Given the description of an element on the screen output the (x, y) to click on. 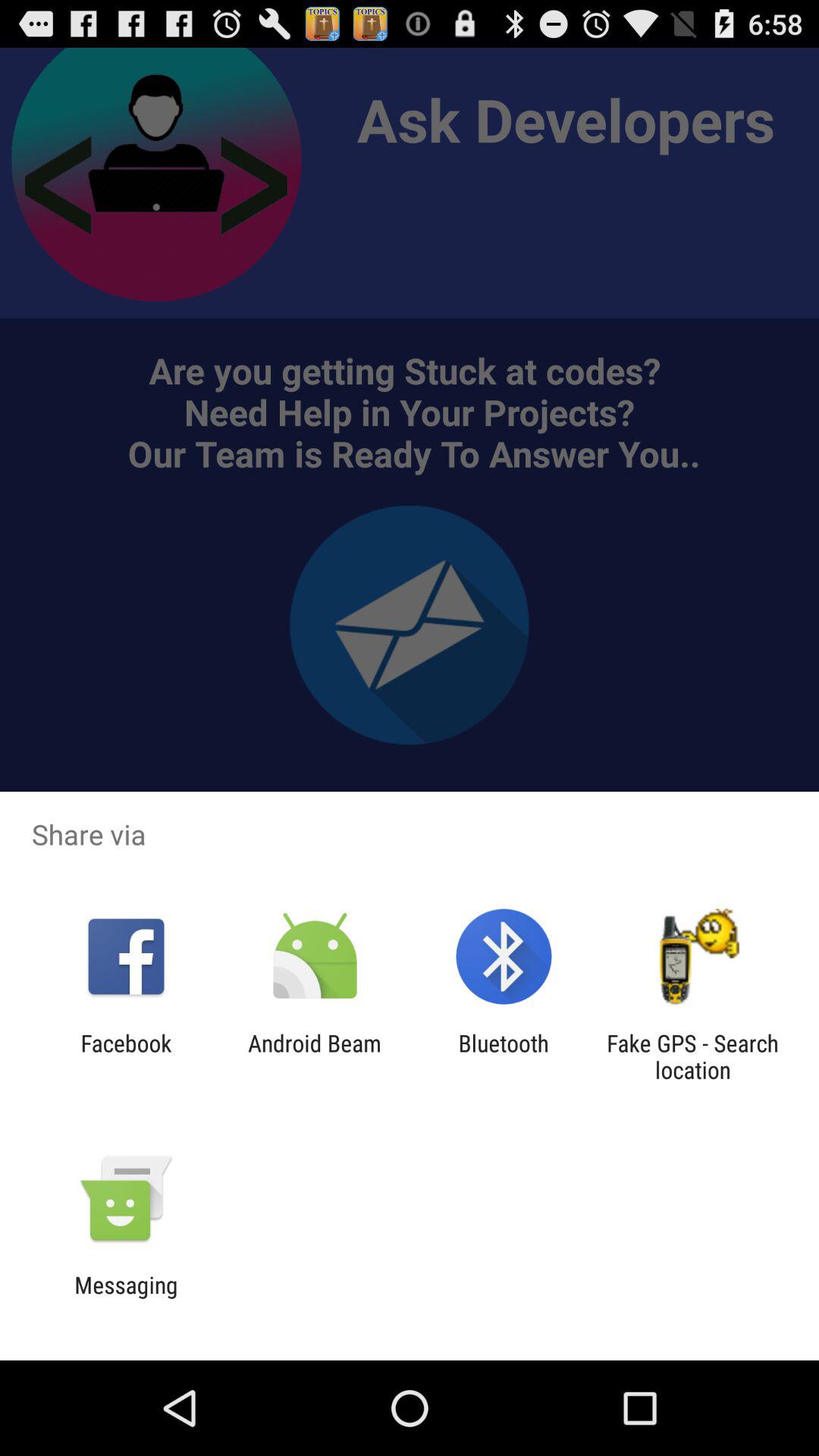
choose the icon to the left of the bluetooth item (314, 1056)
